Given the description of an element on the screen output the (x, y) to click on. 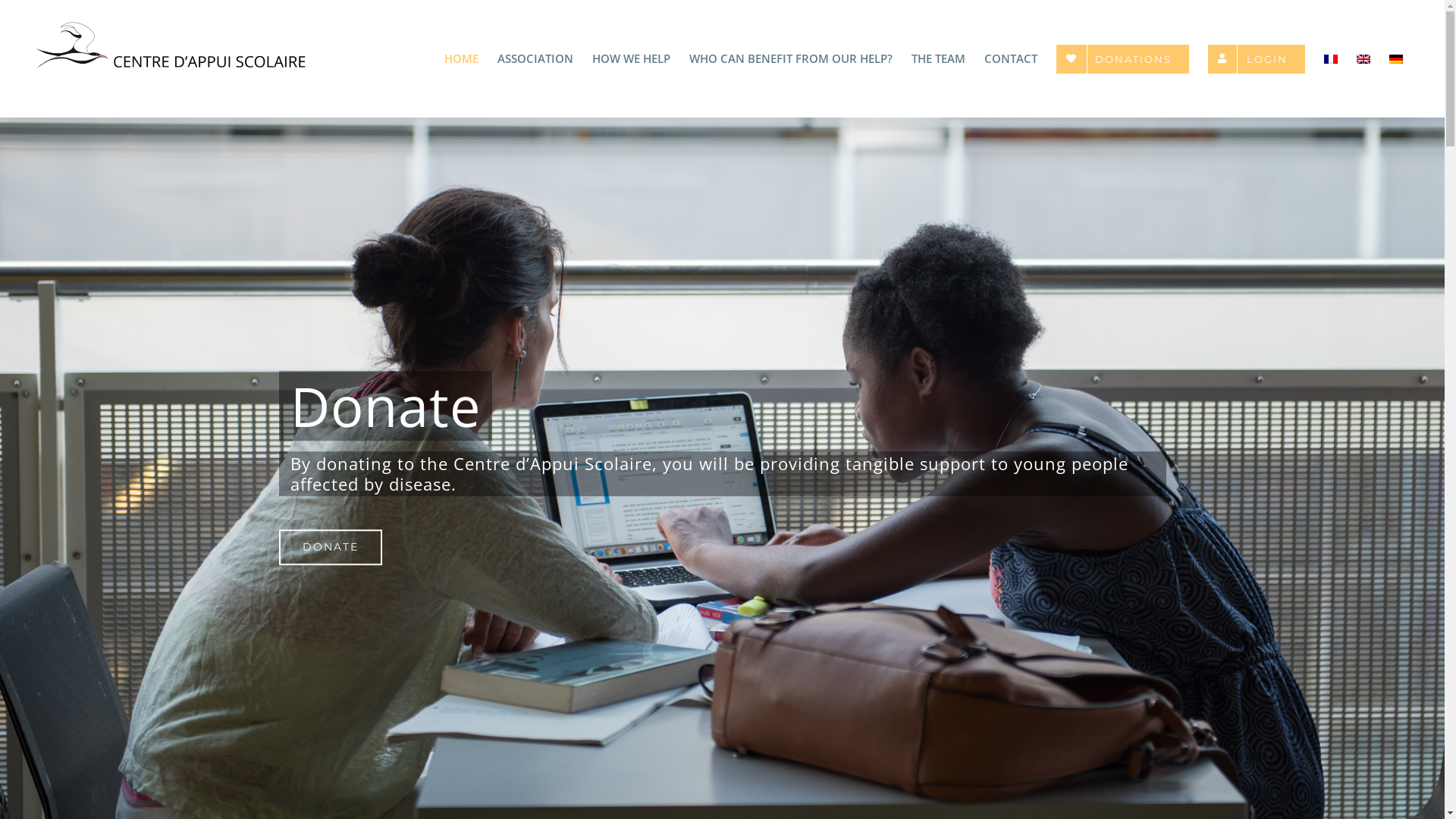
LOGIN Element type: text (1256, 58)
DONATIONS Element type: text (1122, 58)
ASSOCIATION Element type: text (535, 58)
THE TEAM Element type: text (938, 58)
HOME Element type: text (461, 58)
WHO CAN BENEFIT FROM OUR HELP? Element type: text (790, 58)
CONTACT Element type: text (1010, 58)
HOW WE HELP Element type: text (631, 58)
DONATE Element type: text (330, 547)
